Given the description of an element on the screen output the (x, y) to click on. 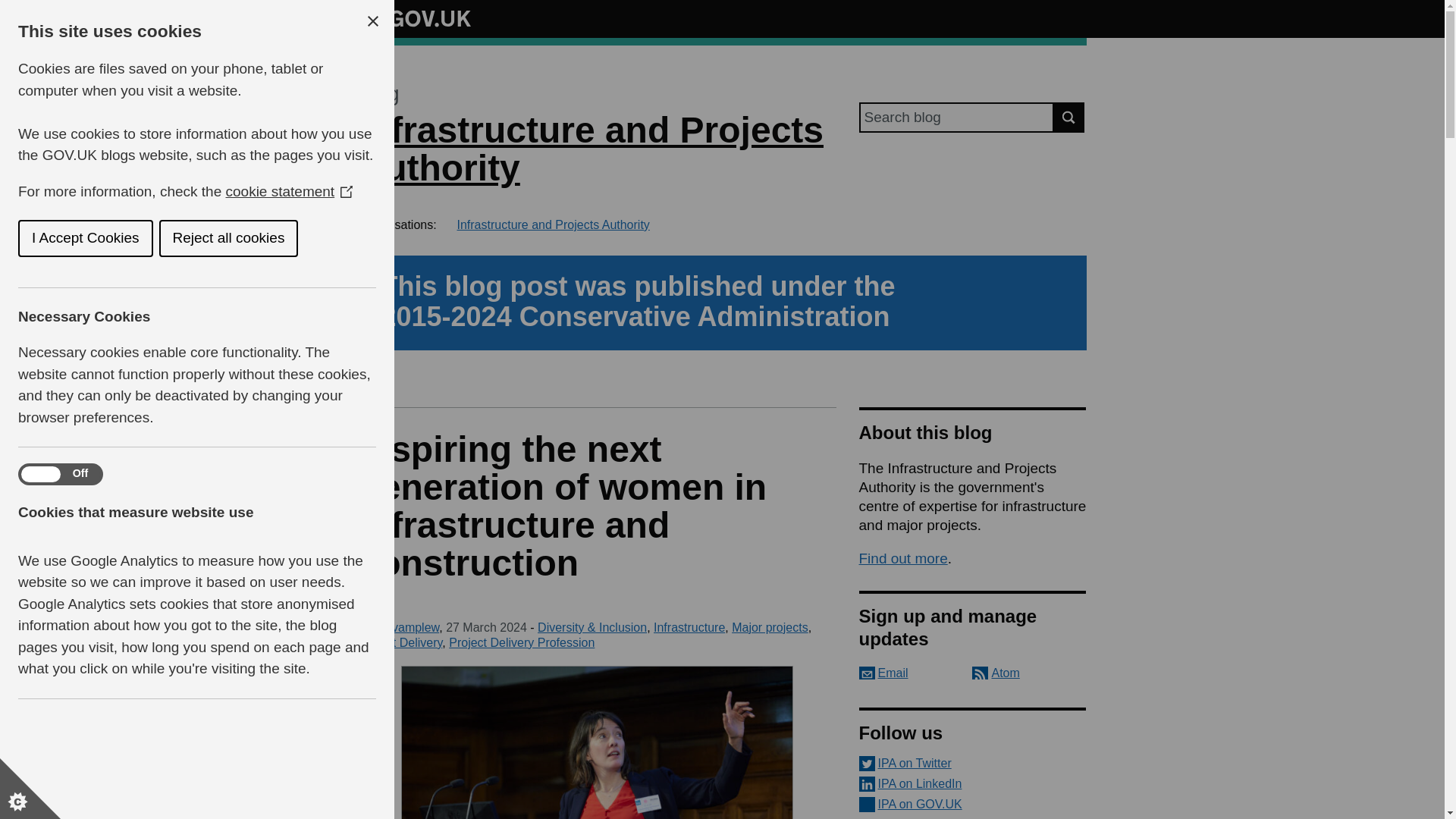
IPA on GOV.UK (972, 804)
Email (883, 672)
GOV.UK (414, 15)
Infrastructure and Projects Authority (591, 148)
Atom (995, 672)
IPA on LinkedIn (972, 783)
Go to the GOV.UK homepage (414, 18)
Project Delivery (400, 642)
Skip to main content (11, 7)
Reject all cookies (65, 238)
